Given the description of an element on the screen output the (x, y) to click on. 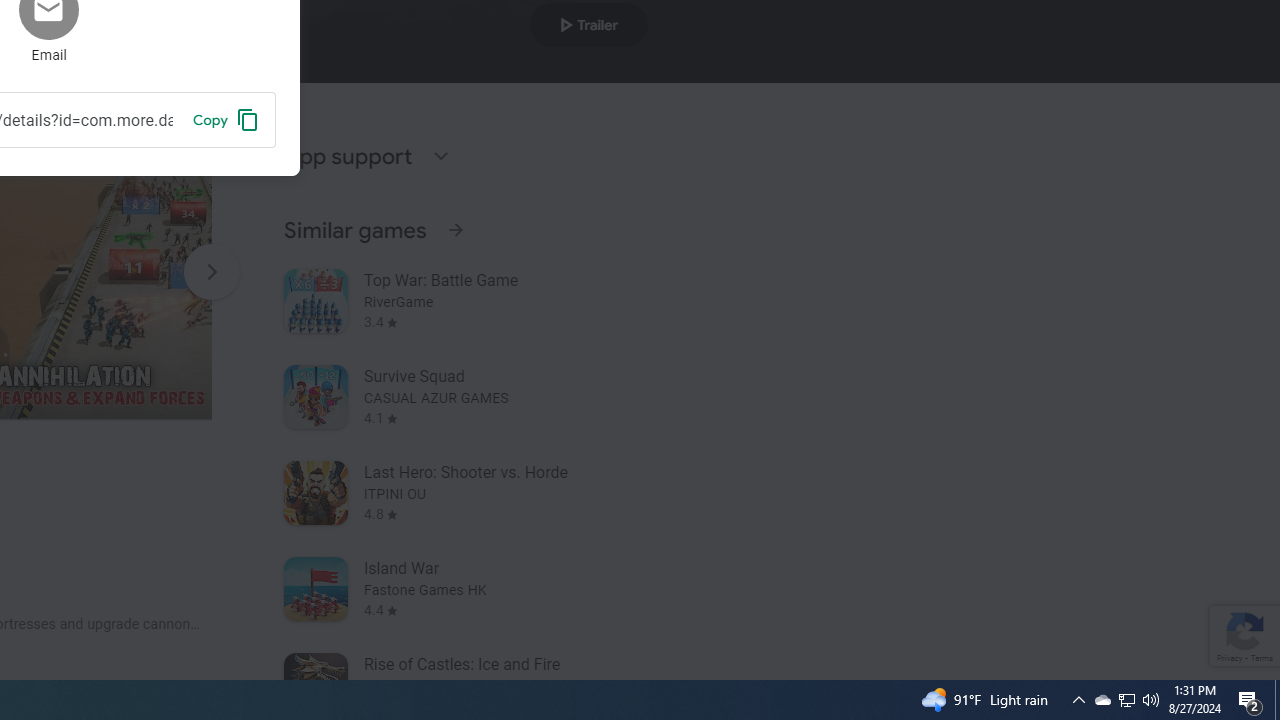
Copy link to clipboard (225, 119)
